Given the description of an element on the screen output the (x, y) to click on. 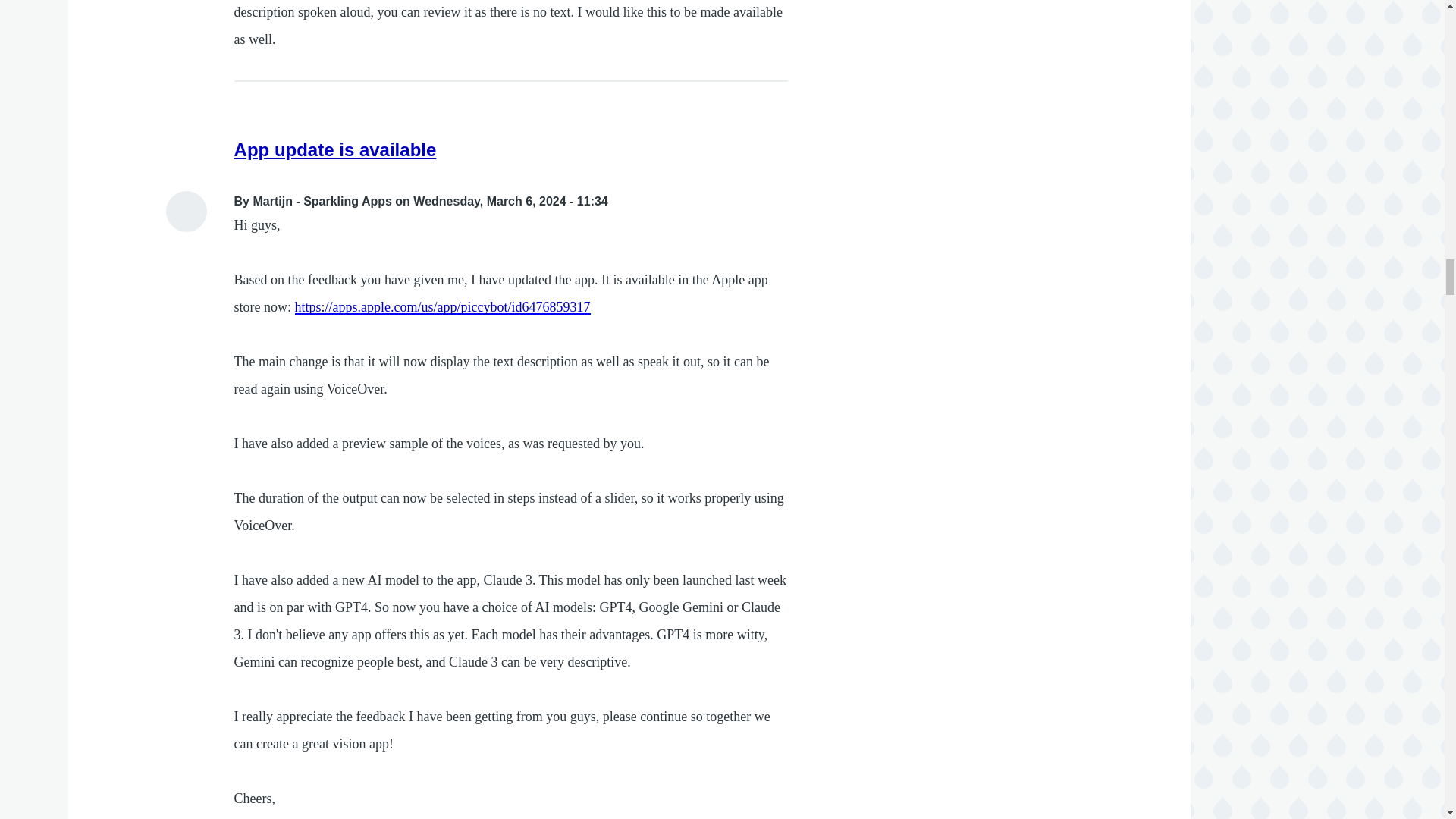
App update is available (335, 149)
